Given the description of an element on the screen output the (x, y) to click on. 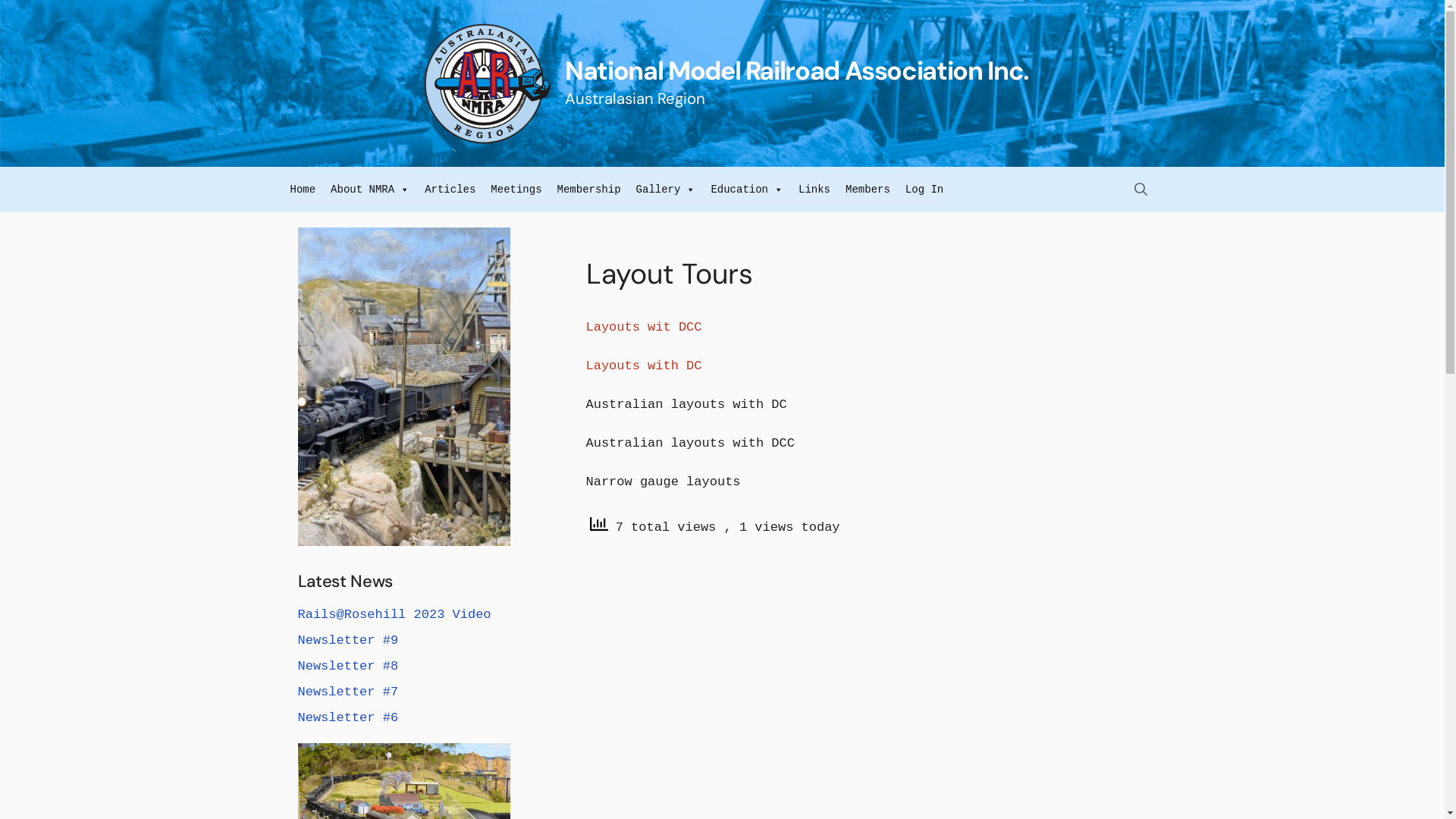
Links Element type: text (813, 189)
Newsletter #6 Element type: text (347, 717)
Education Element type: text (746, 189)
Newsletter #7 Element type: text (347, 691)
Newsletter #9 Element type: text (347, 640)
Rails@Rosehill 2023 Video Element type: text (393, 614)
Layouts with DC Element type: text (643, 365)
Newsletter #8 Element type: text (347, 665)
About NMRA Element type: text (370, 189)
Meetings Element type: text (516, 189)
Gallery Element type: text (665, 189)
Membership Element type: text (588, 189)
Members Element type: text (867, 189)
Articles Element type: text (450, 189)
Home Element type: text (302, 189)
Log In Element type: text (923, 189)
Layouts wit DCC Element type: text (643, 327)
National Model Railroad Association Inc. Element type: text (796, 70)
